Given the description of an element on the screen output the (x, y) to click on. 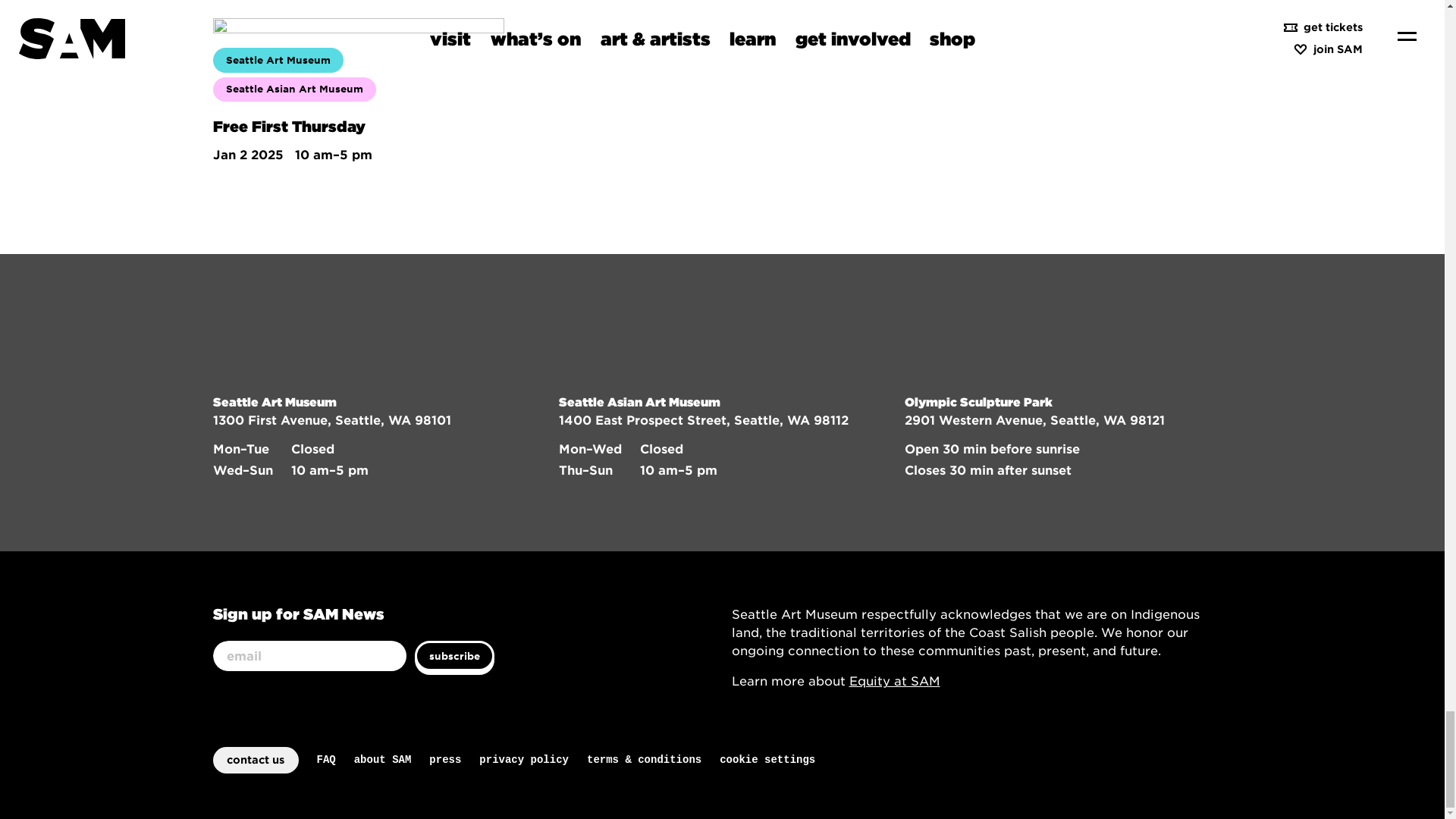
subscribe (454, 655)
